Given the description of an element on the screen output the (x, y) to click on. 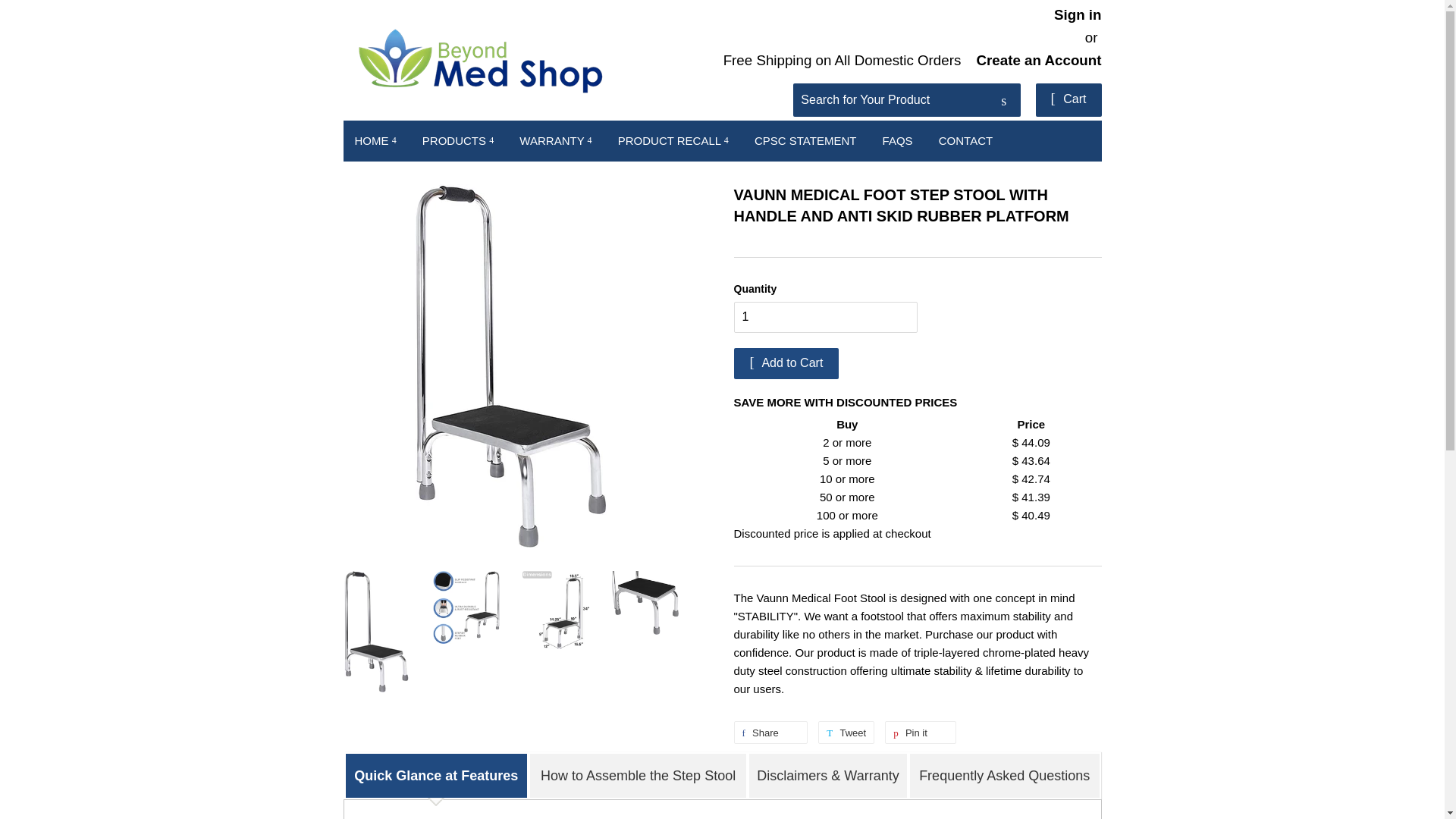
PRODUCT RECALL (673, 140)
WARRANTY (555, 140)
Skip to main content (10, 11)
CONTACT (965, 140)
CPSC STATEMENT (804, 140)
HOME (374, 140)
Cart (1068, 100)
PRODUCTS (457, 140)
FAQS (897, 140)
1 (825, 317)
Add to Cart (786, 363)
Search (1003, 101)
Sign in (1078, 14)
Create an Account (1039, 59)
